Given the description of an element on the screen output the (x, y) to click on. 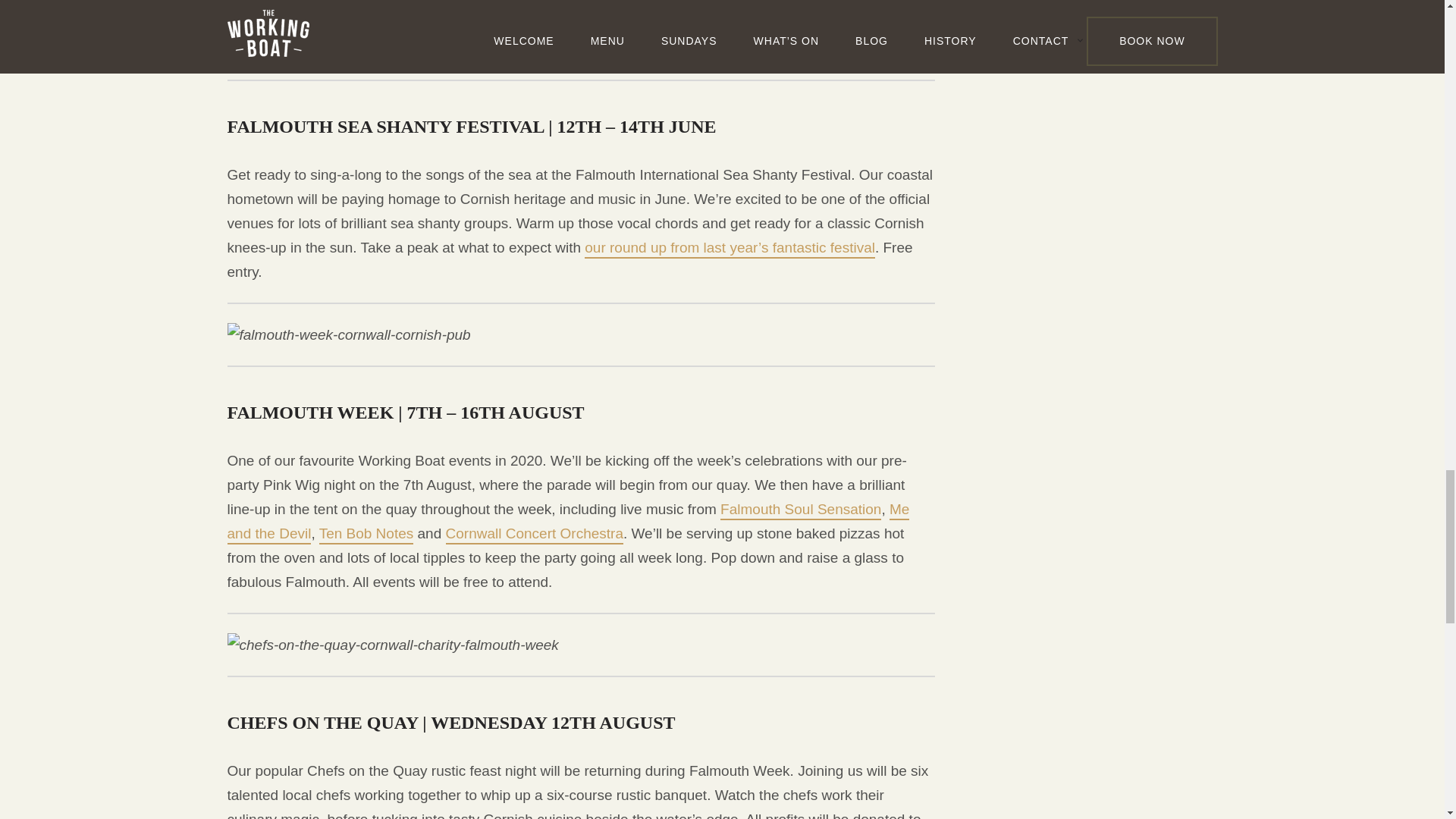
Falmouth Soul Sensation (800, 510)
Ten Bob Notes (365, 534)
Me and the Devil (568, 522)
Cornwall Concert Orchestra (534, 534)
